Given the description of an element on the screen output the (x, y) to click on. 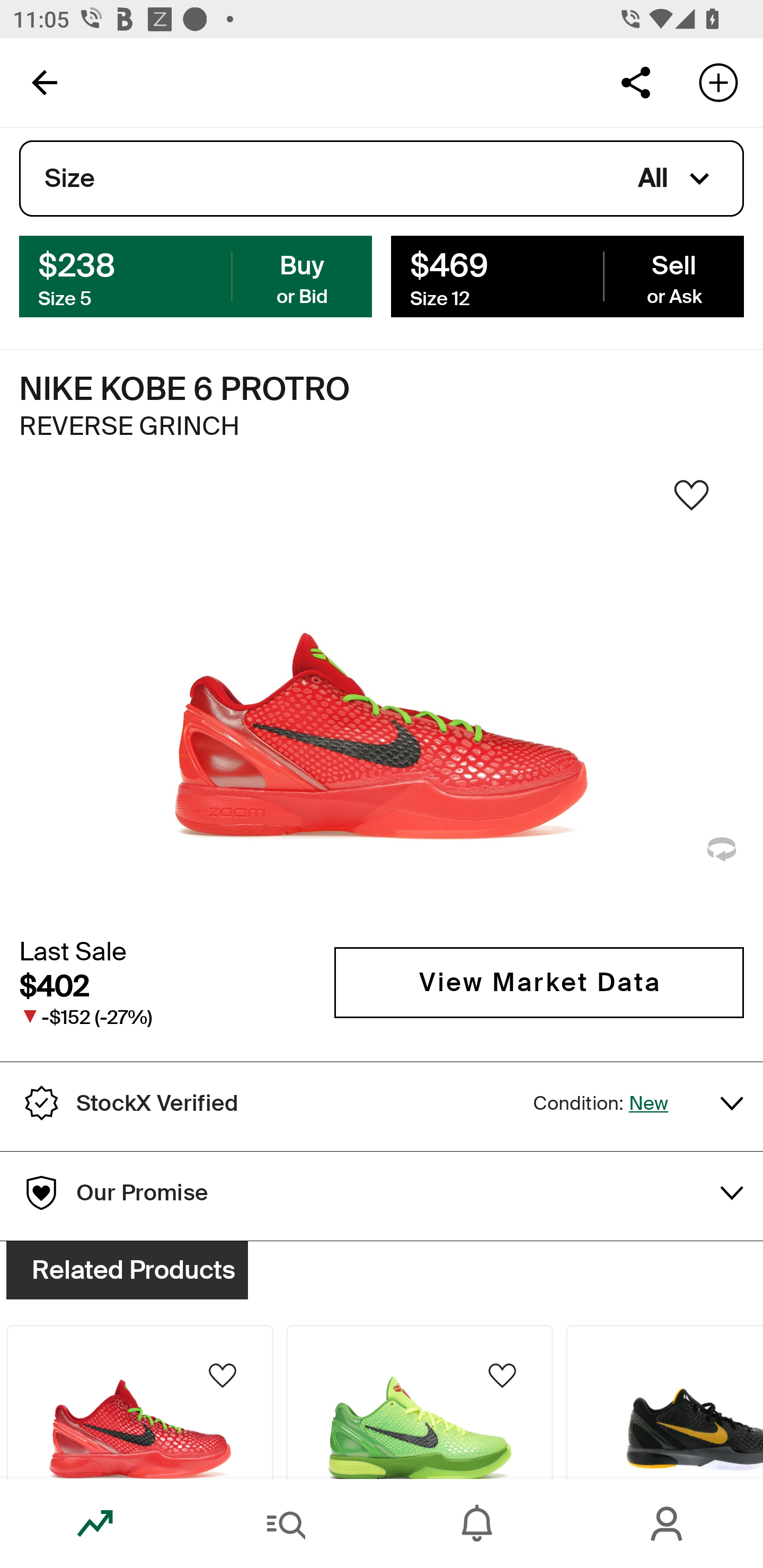
Share (635, 81)
Add (718, 81)
Size All (381, 178)
$238 Buy Size 5 or Bid (195, 275)
$469 Sell Size 12 or Ask (566, 275)
Sneaker Image (381, 699)
View Market Data (538, 982)
Product Image (139, 1401)
Product Image (419, 1401)
Product Image (664, 1401)
Search (285, 1523)
Inbox (476, 1523)
Account (667, 1523)
